Given the description of an element on the screen output the (x, y) to click on. 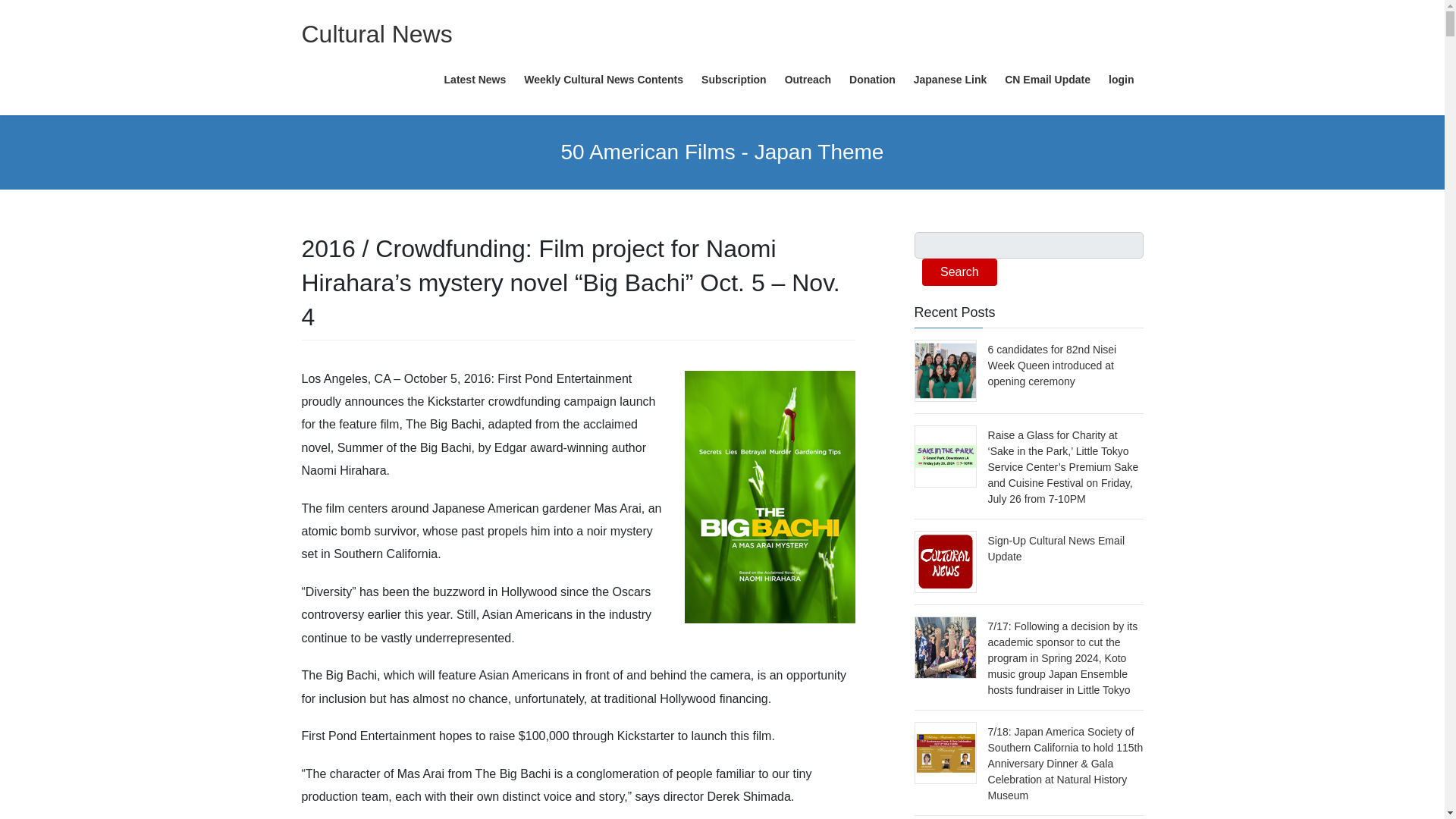
Weekly Cultural News Contents (604, 80)
CN Email Update (1047, 80)
Donation (872, 80)
Latest News (475, 80)
Outreach (808, 80)
Subscription (734, 80)
Cultural News (376, 33)
login (1120, 80)
Japanese Link (949, 80)
